Given the description of an element on the screen output the (x, y) to click on. 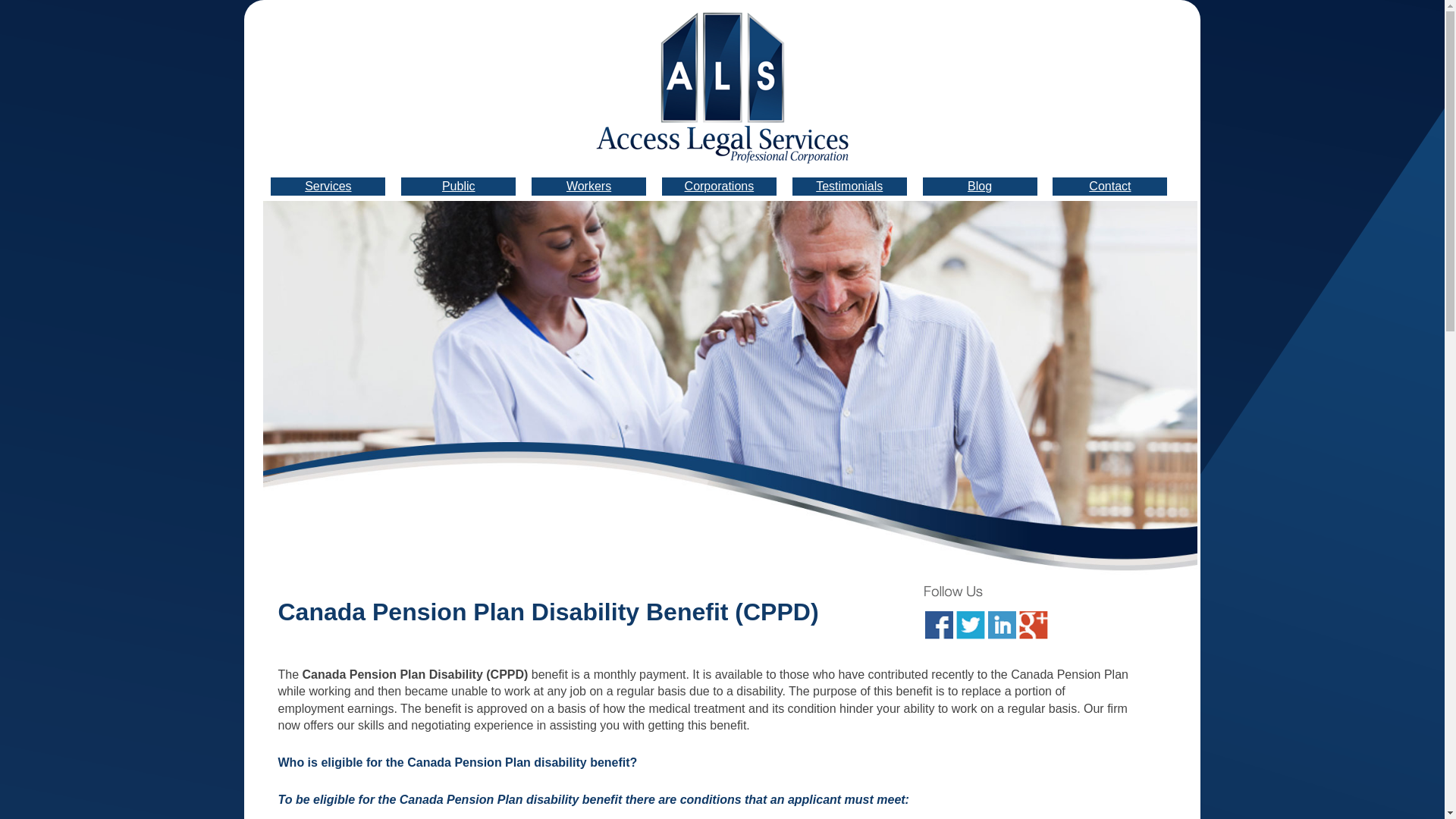
Testimonials Element type: text (848, 185)
Services Element type: text (327, 185)
Workers Element type: text (588, 185)
Corporations Element type: text (719, 185)
Contact Element type: text (1109, 185)
Blog Element type: text (979, 185)
Access Legal Services Element type: hover (722, 87)
Public Element type: text (458, 185)
